Given the description of an element on the screen output the (x, y) to click on. 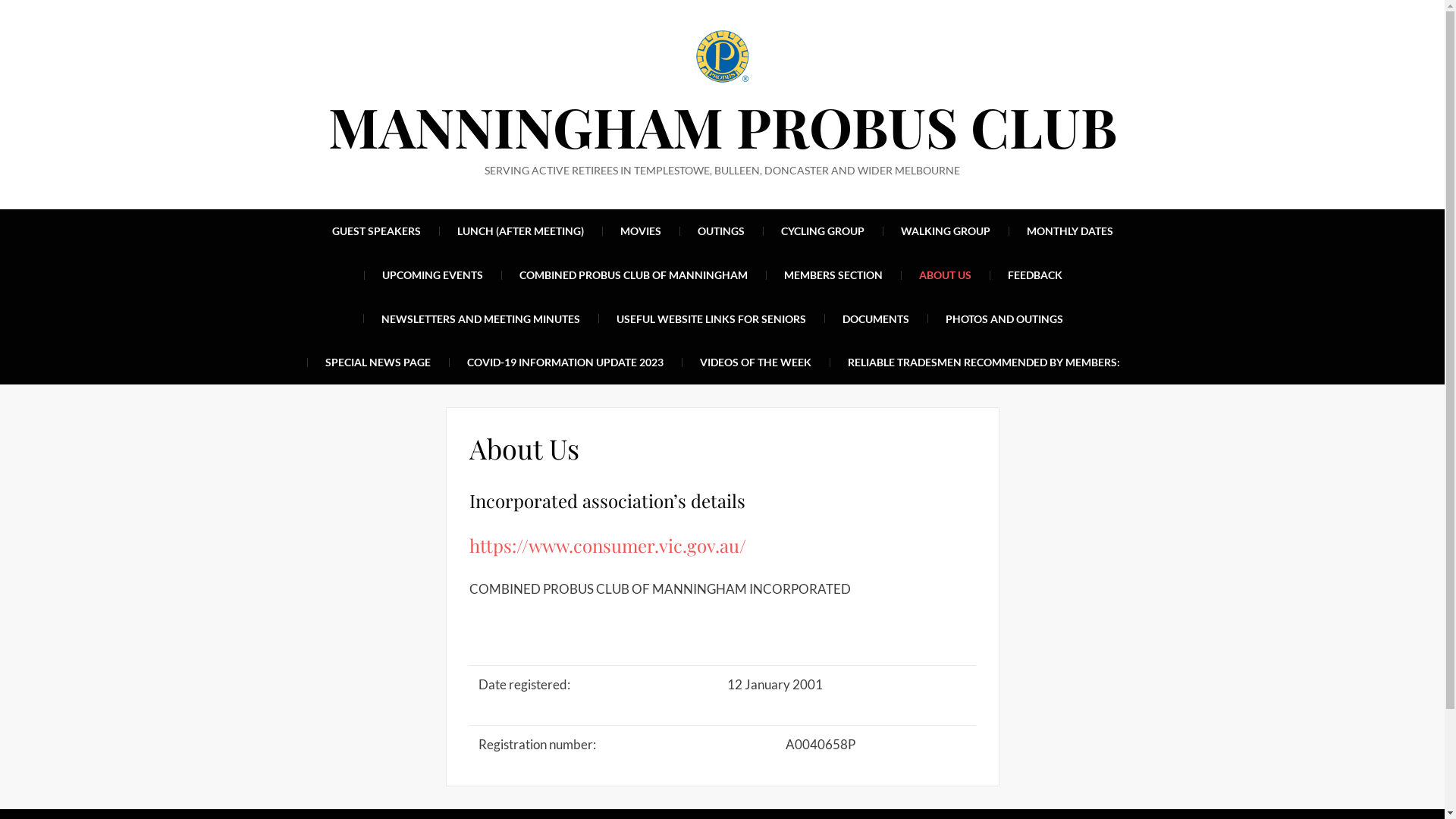
FEEDBACK Element type: text (1034, 275)
OUTINGS Element type: text (720, 231)
COVID-19 INFORMATION UPDATE 2023 Element type: text (564, 362)
COMBINED PROBUS CLUB OF MANNINGHAM Element type: text (633, 275)
UPCOMING EVENTS Element type: text (432, 275)
GUEST SPEAKERS Element type: text (376, 231)
PHOTOS AND OUTINGS Element type: text (1004, 319)
MOVIES Element type: text (640, 231)
SPECIAL NEWS PAGE Element type: text (377, 362)
MONTHLY DATES Element type: text (1069, 231)
VIDEOS OF THE WEEK Element type: text (754, 362)
RELIABLE TRADESMEN RECOMMENDED BY MEMBERS: Element type: text (983, 362)
WALKING GROUP Element type: text (945, 231)
USEFUL WEBSITE LINKS FOR SENIORS Element type: text (711, 319)
CYCLING GROUP Element type: text (822, 231)
DOCUMENTS Element type: text (875, 319)
MANNINGHAM PROBUS CLUB Element type: text (721, 125)
https://www.consumer.vic.gov.au/ Element type: text (606, 545)
LUNCH (AFTER MEETING) Element type: text (519, 231)
ABOUT US Element type: text (944, 275)
MEMBERS SECTION Element type: text (832, 275)
NEWSLETTERS AND MEETING MINUTES Element type: text (480, 319)
